Given the description of an element on the screen output the (x, y) to click on. 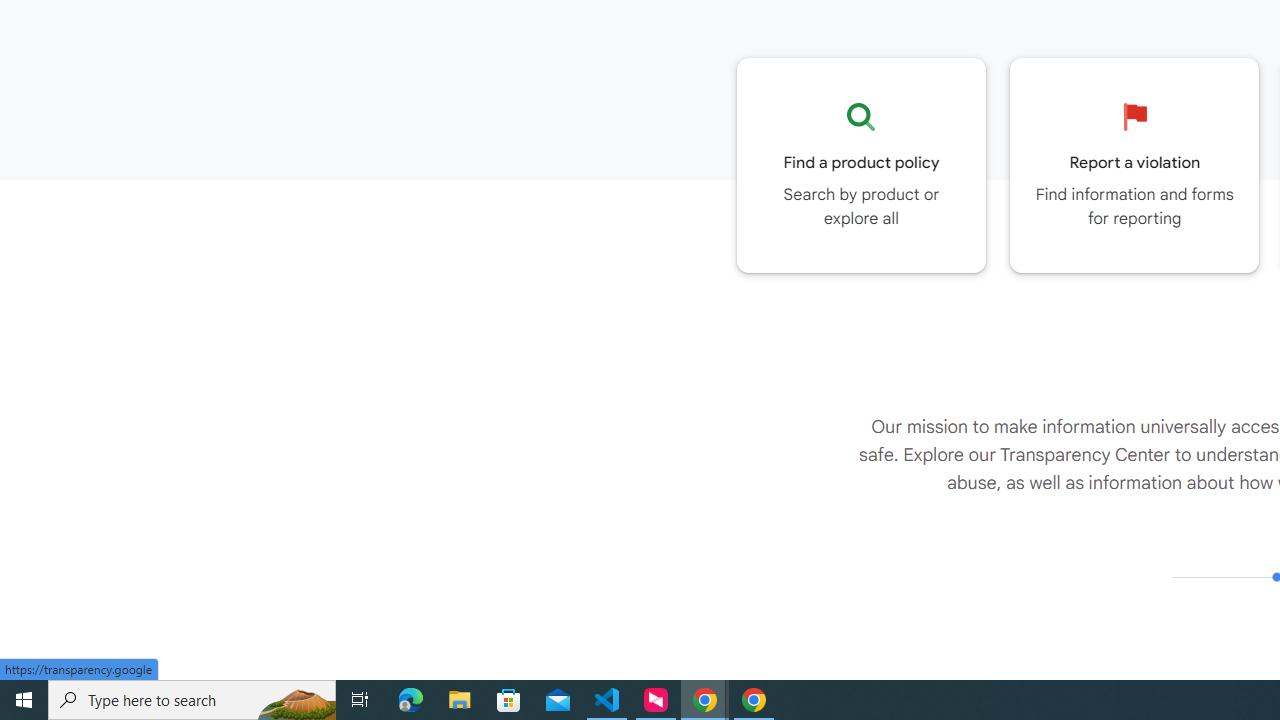
Go to the Product policy page (861, 165)
Go to the Reporting and appeals page (1134, 165)
